Given the description of an element on the screen output the (x, y) to click on. 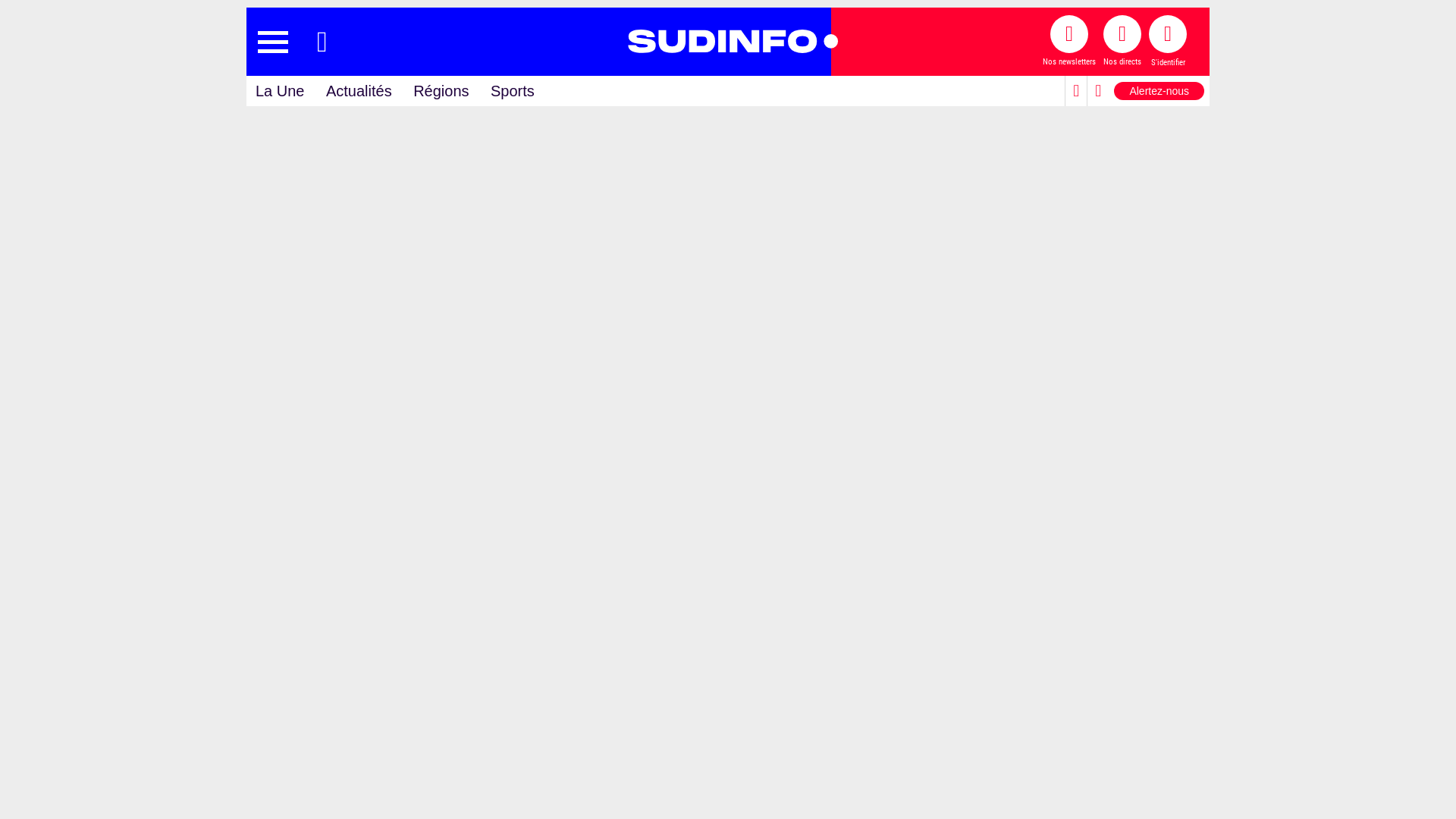
sudinfo.be Element type: hover (727, 41)
Alertez-nous Element type: text (1158, 90)
Sports Element type: text (512, 90)
S'identifier Element type: text (1167, 41)
Nos newsletters Element type: text (1068, 41)
Recherche Element type: hover (322, 41)
Menu Element type: hover (272, 42)
La Une Element type: text (279, 90)
